Given the description of an element on the screen output the (x, y) to click on. 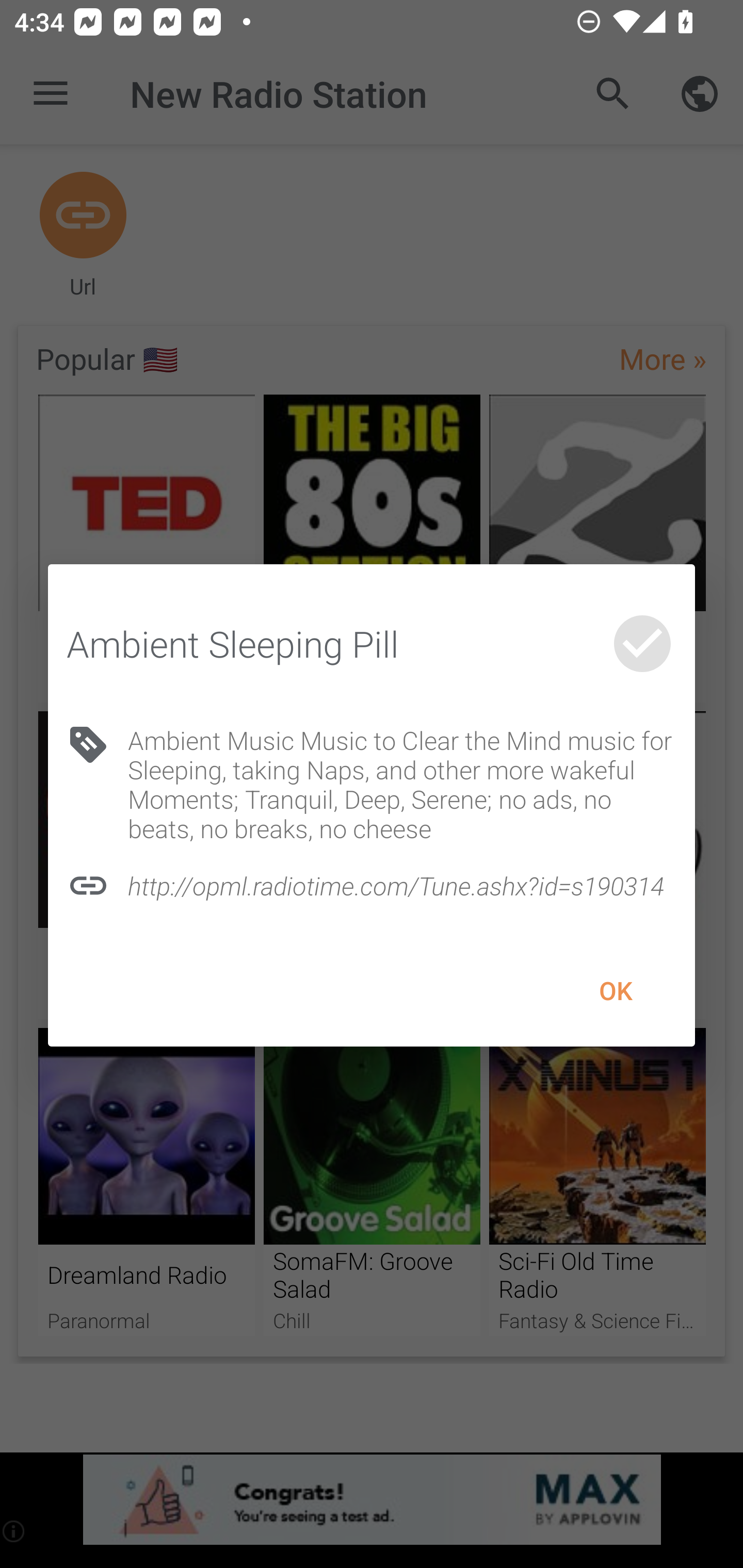
Add Ambient Sleeping Pill (641, 643)
OK (615, 990)
